Given the description of an element on the screen output the (x, y) to click on. 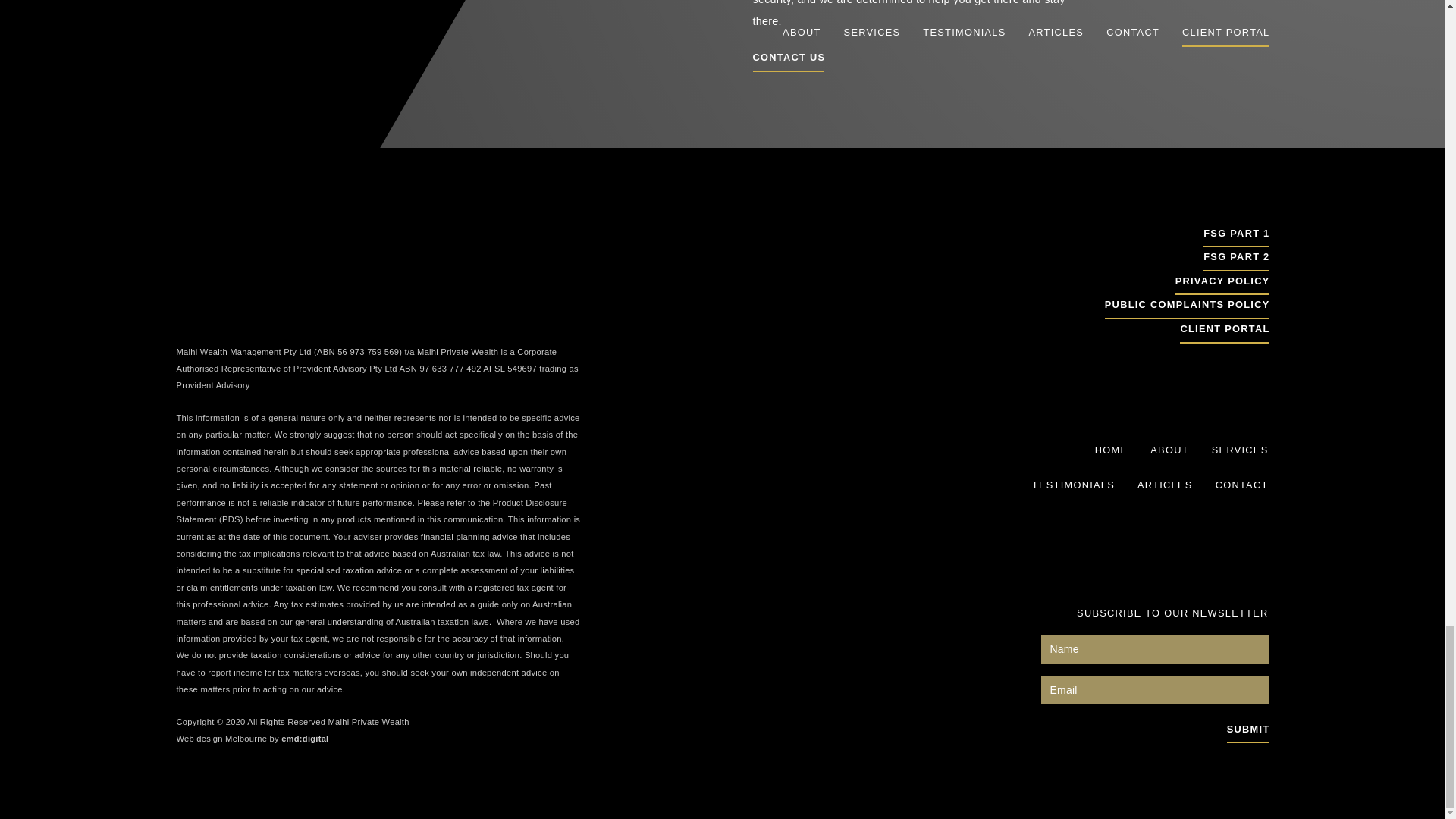
FSG PART 1 (1236, 235)
Submit (1248, 729)
ABOUT (1169, 450)
SERVICES (1239, 450)
Web design Melbourne by emd:digital (378, 738)
Submit (1248, 729)
HOME (1111, 450)
TESTIMONIALS (1073, 484)
ARTICLES (1164, 484)
CONTACT US (788, 59)
CONTACT (1241, 484)
FSG PART 2 (1236, 259)
CLIENT PORTAL (1223, 331)
PRIVACY POLICY (1221, 283)
PUBLIC COMPLAINTS POLICY (1186, 306)
